Given the description of an element on the screen output the (x, y) to click on. 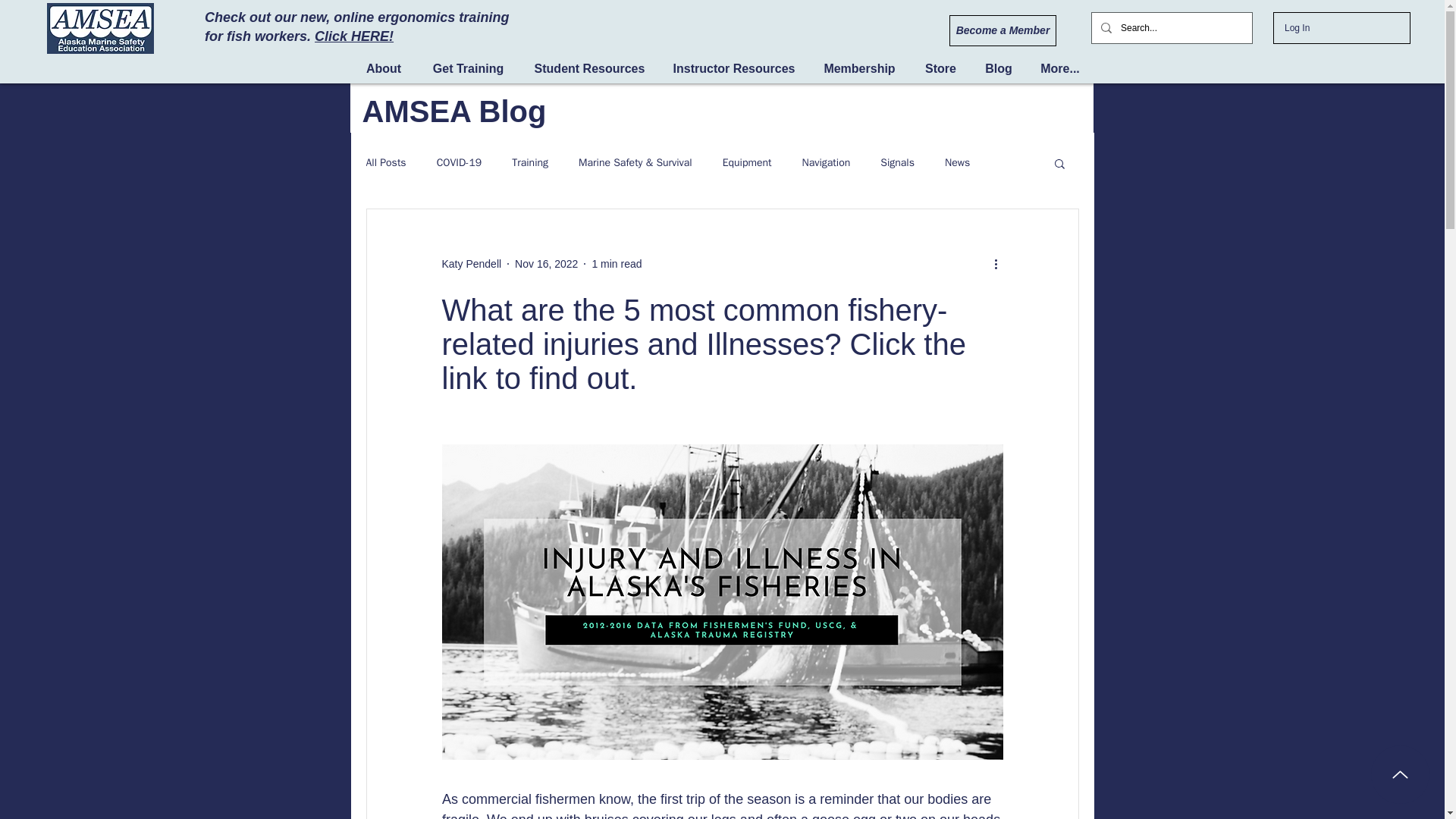
Nov 16, 2022 (546, 263)
Katy Pendell (470, 263)
Log In (1297, 28)
About (383, 68)
Get Training (467, 68)
Become a Member (1003, 30)
1 min read (616, 263)
Student Resources (589, 68)
Click HERE! (353, 36)
